Given the description of an element on the screen output the (x, y) to click on. 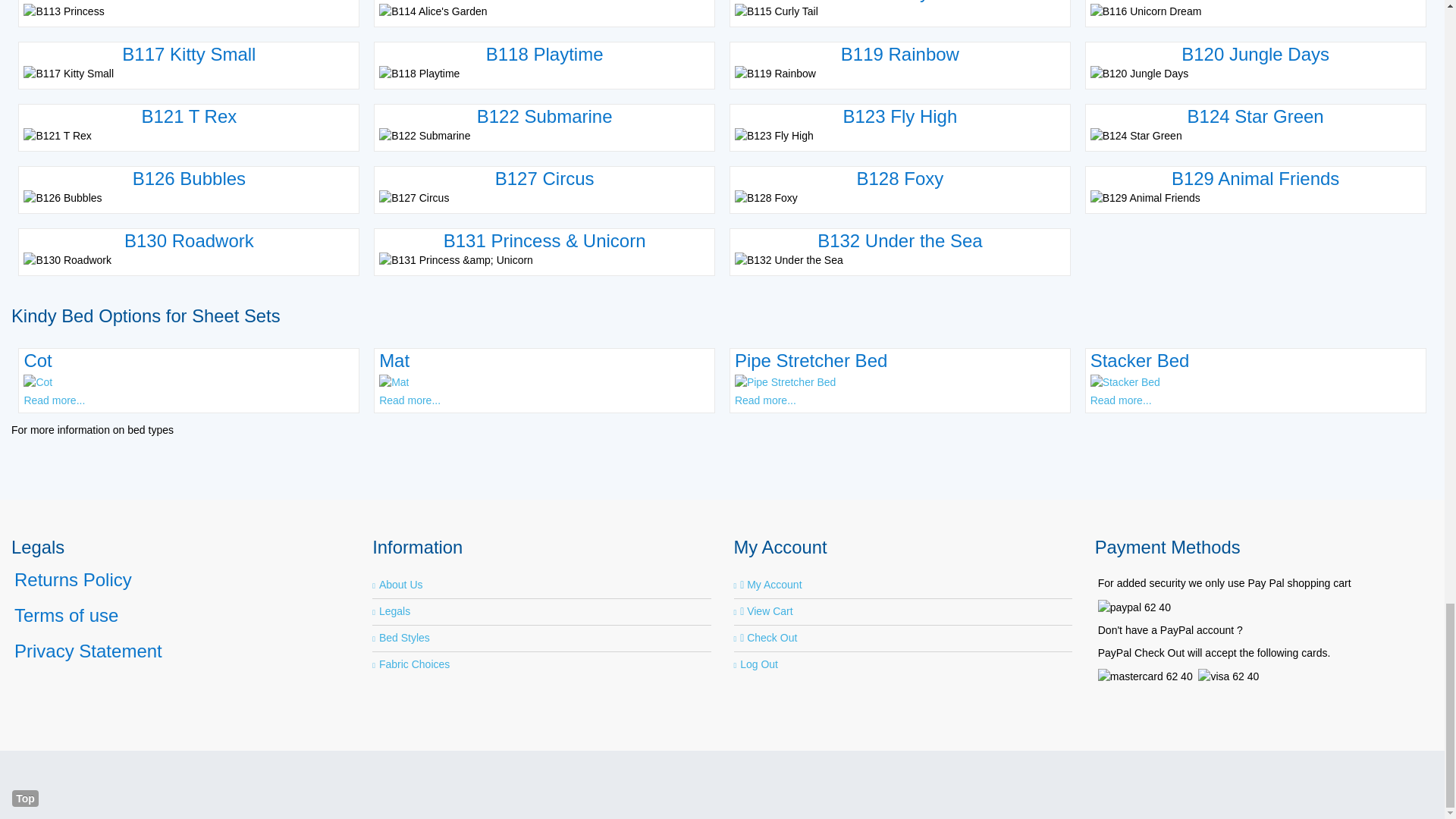
Continue reading "Stacker Bed" (1125, 381)
Continue reading "Cot" (37, 381)
Continue reading "Mat" (393, 381)
Continue reading "Pipe Stretcher Bed" (785, 381)
